Given the description of an element on the screen output the (x, y) to click on. 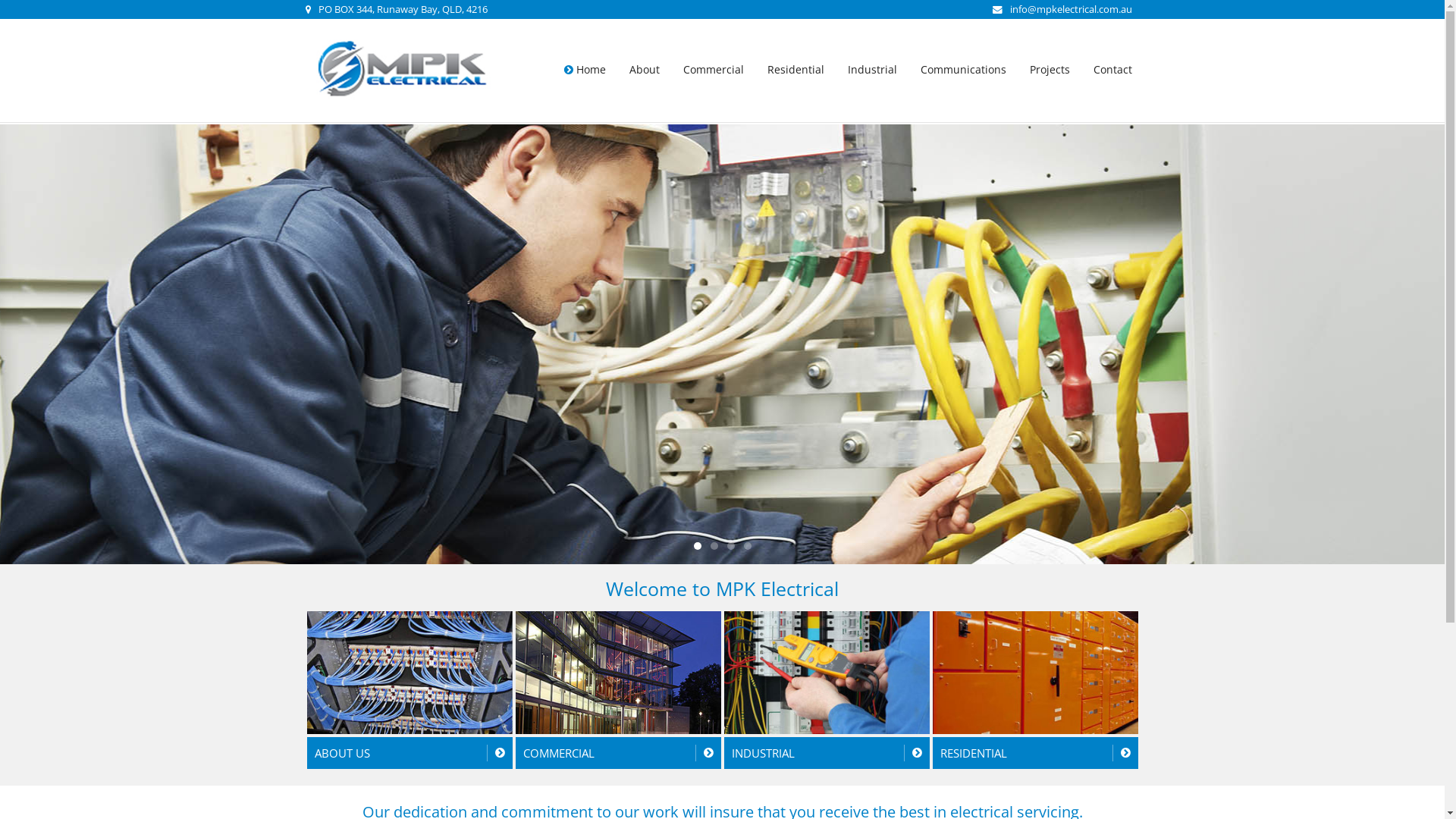
Industrial Element type: text (867, 69)
Contact Element type: text (1107, 69)
ABOUT US Element type: text (408, 689)
About Element type: text (639, 69)
info@mpkelectrical.com.au Element type: text (1061, 9)
COMMERCIAL Element type: text (618, 689)
INDUSTRIAL Element type: text (825, 689)
Residential Element type: text (790, 69)
Home Element type: text (584, 69)
Projects Element type: text (1044, 69)
RESIDENTIAL Element type: text (1035, 689)
Commercial Element type: text (709, 69)
Communications Element type: text (958, 69)
